Given the description of an element on the screen output the (x, y) to click on. 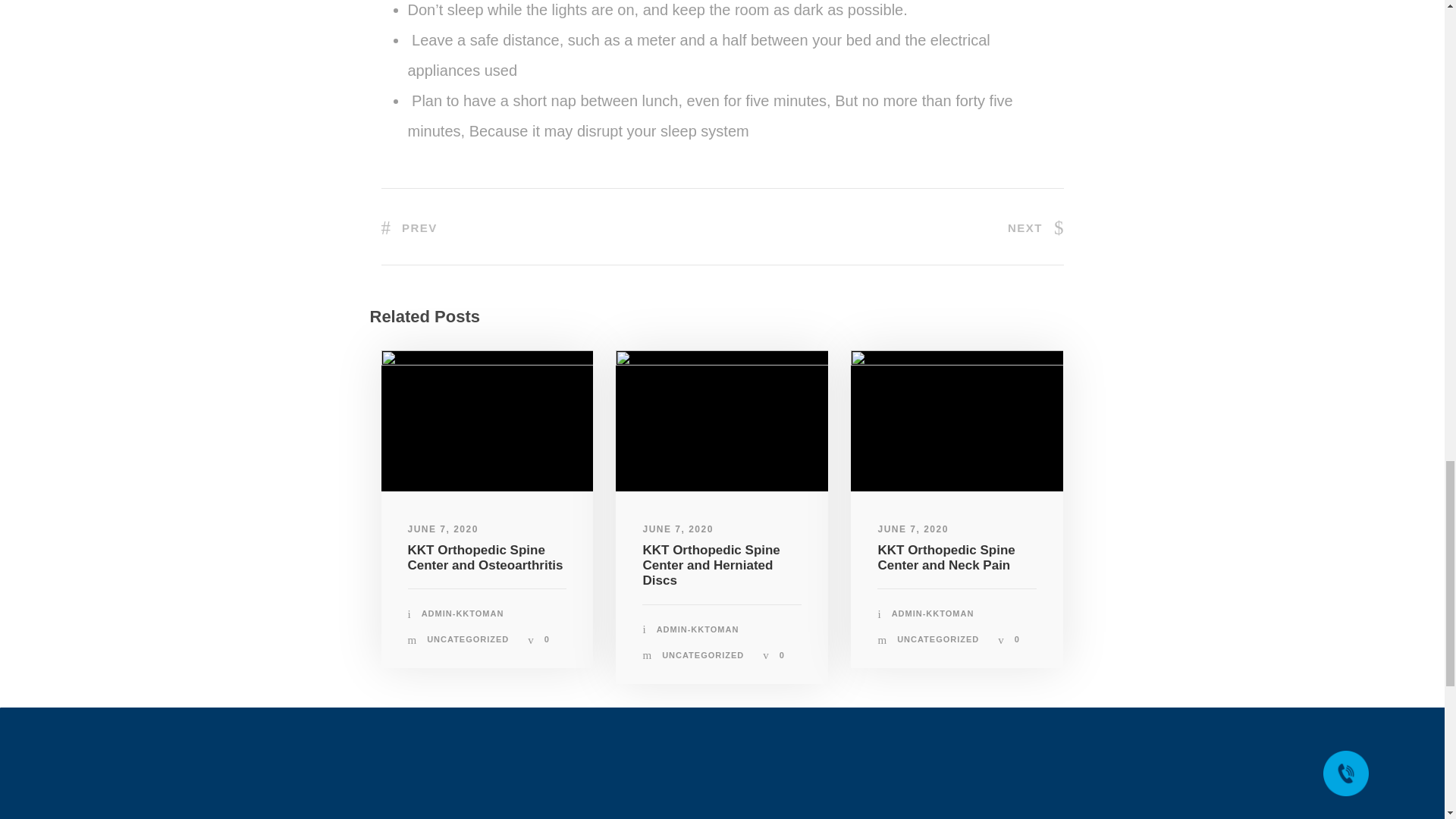
NEXT (1035, 226)
Posts by admin-kktoman (697, 628)
UNCATEGORIZED (467, 638)
Posts by admin-kktoman (932, 613)
ADMIN-KKTOMAN (462, 613)
JUNE 7, 2020 (443, 529)
kkt-article-neckpain (956, 421)
PREV (408, 226)
kkt-article-osteoarthritis (486, 421)
Posts by admin-kktoman (462, 613)
